Given the description of an element on the screen output the (x, y) to click on. 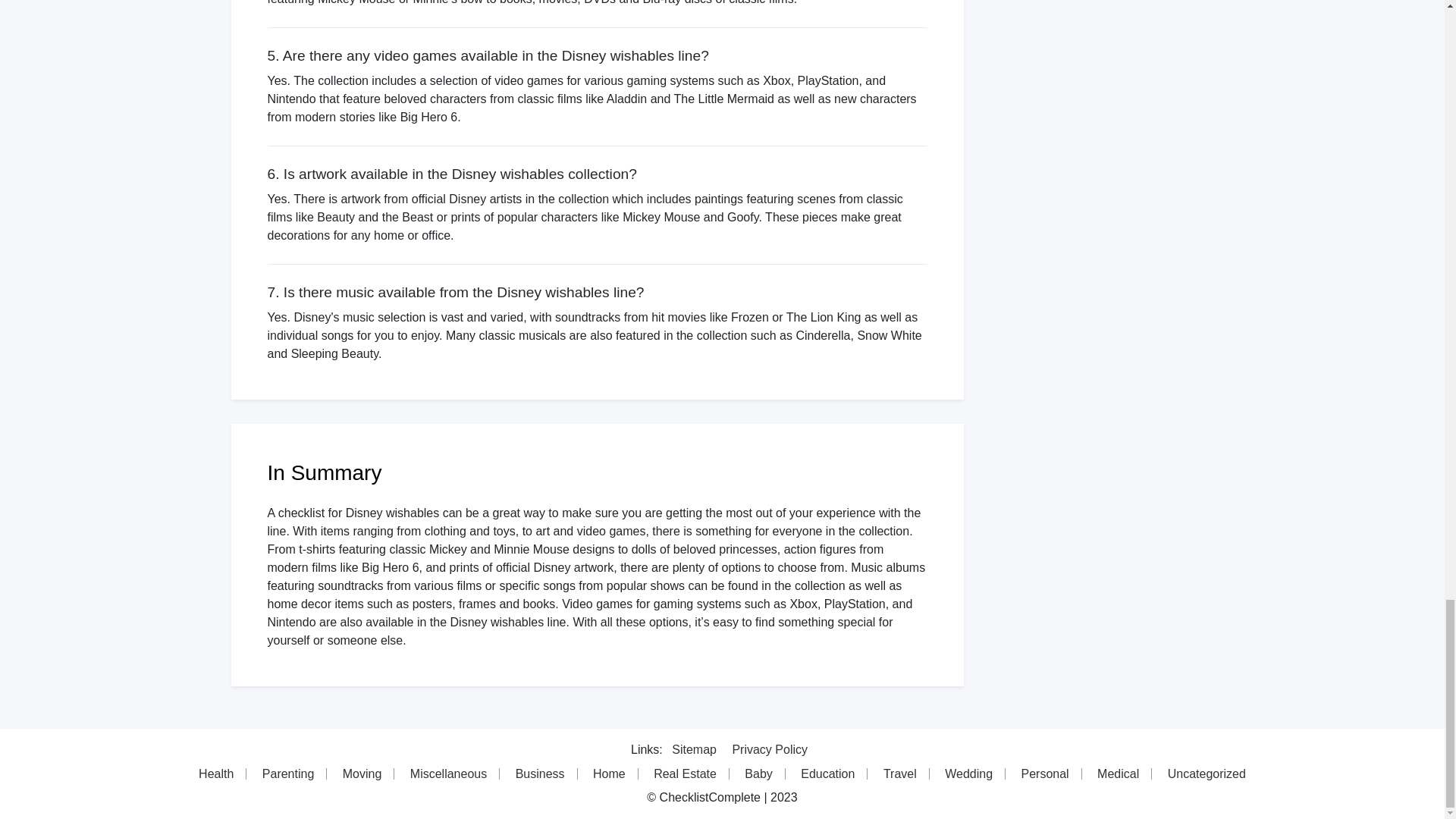
Wedding (969, 773)
Baby (758, 773)
Health (216, 773)
Uncategorized (1206, 773)
Home (609, 773)
Sitemap (693, 748)
Medical (1117, 773)
Travel (900, 773)
Personal (1045, 773)
Real Estate (685, 773)
Education (828, 773)
Privacy Policy (770, 748)
Moving (362, 773)
Business (540, 773)
Parenting (288, 773)
